Given the description of an element on the screen output the (x, y) to click on. 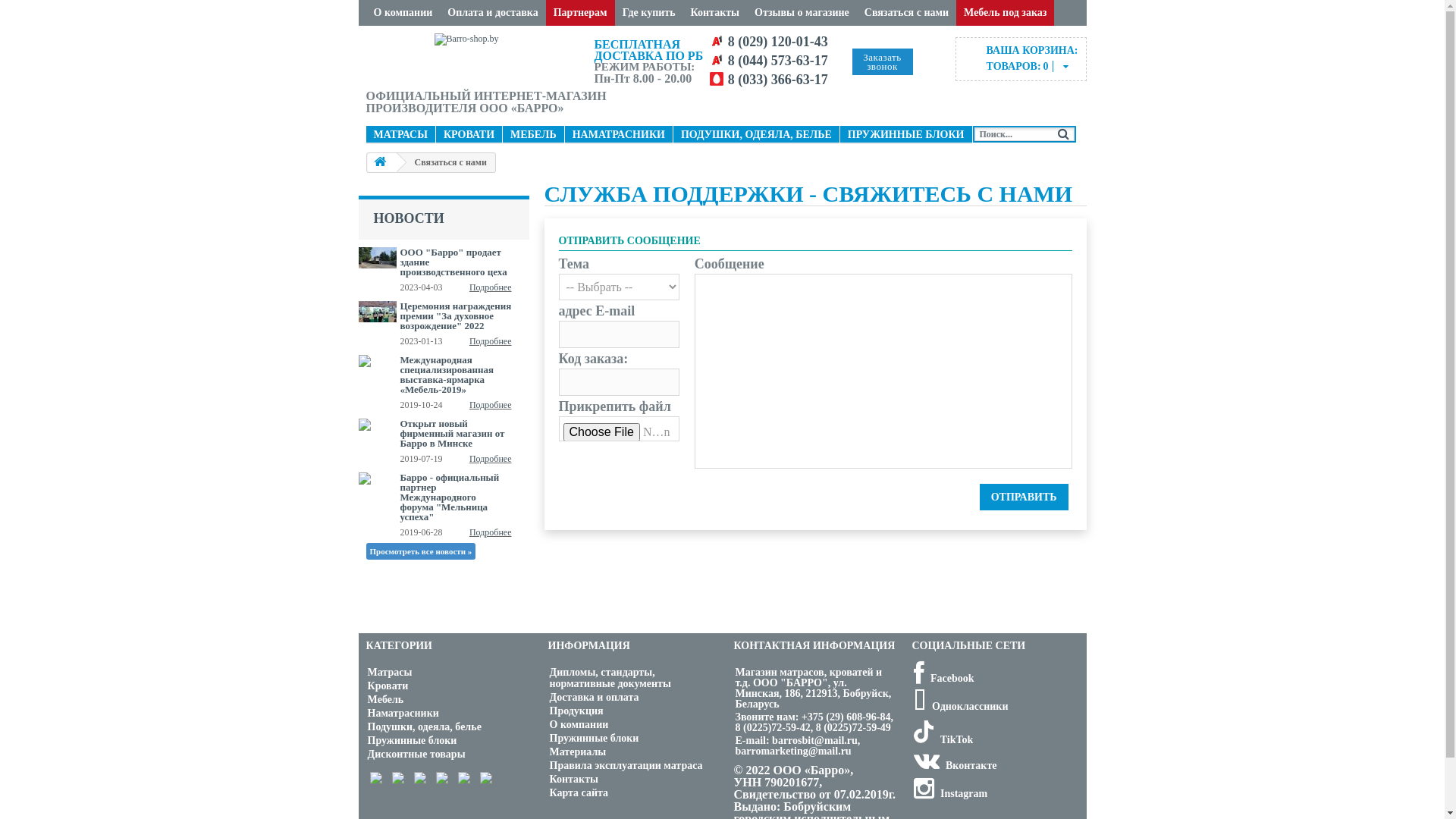
8 (029) 120-01-43 Element type: text (778, 41)
barrosbit@mail.ru, barromarketing@mail.ru Element type: text (797, 745)
Instagram Element type: text (950, 793)
8 (033) 366-63-17 Element type: text (778, 79)
Facebook Element type: text (943, 678)
Barro-shop.by Element type: hover (477, 57)
TikTok Element type: text (942, 739)
8 (044) 573-63-17 Element type: text (778, 60)
